Given the description of an element on the screen output the (x, y) to click on. 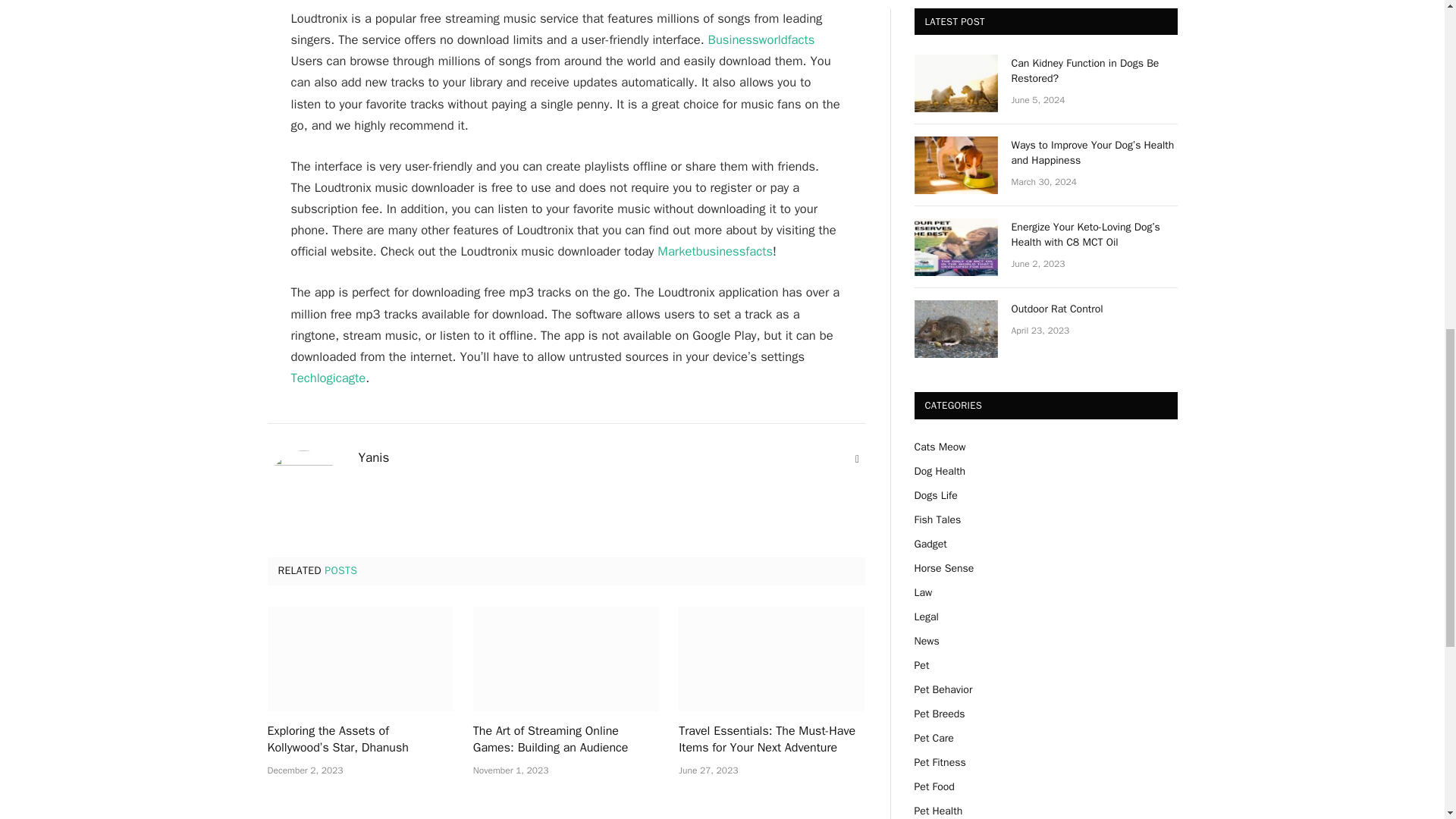
Can Kidney Function in Dogs Be Restored? (1094, 71)
The Art of Streaming Online Games: Building an Audience (566, 658)
Marketbusinessfacts (715, 251)
Posts by Yanis (373, 458)
Techlogicagte (328, 377)
Businessworldfacts (761, 39)
The Art of Streaming Online Games: Building an Audience (566, 739)
Yanis (373, 458)
Website (856, 459)
Website (856, 459)
